Given the description of an element on the screen output the (x, y) to click on. 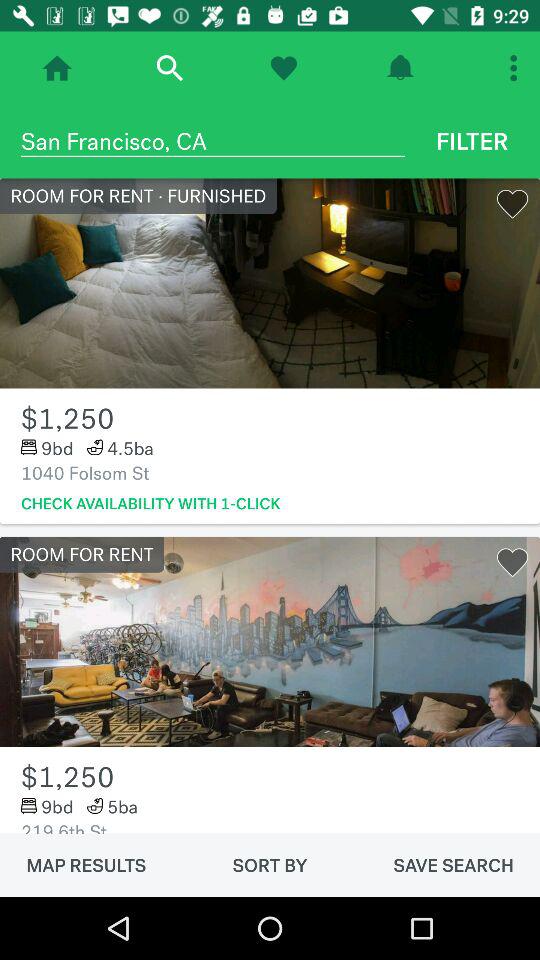
toggle notifications (400, 68)
